Given the description of an element on the screen output the (x, y) to click on. 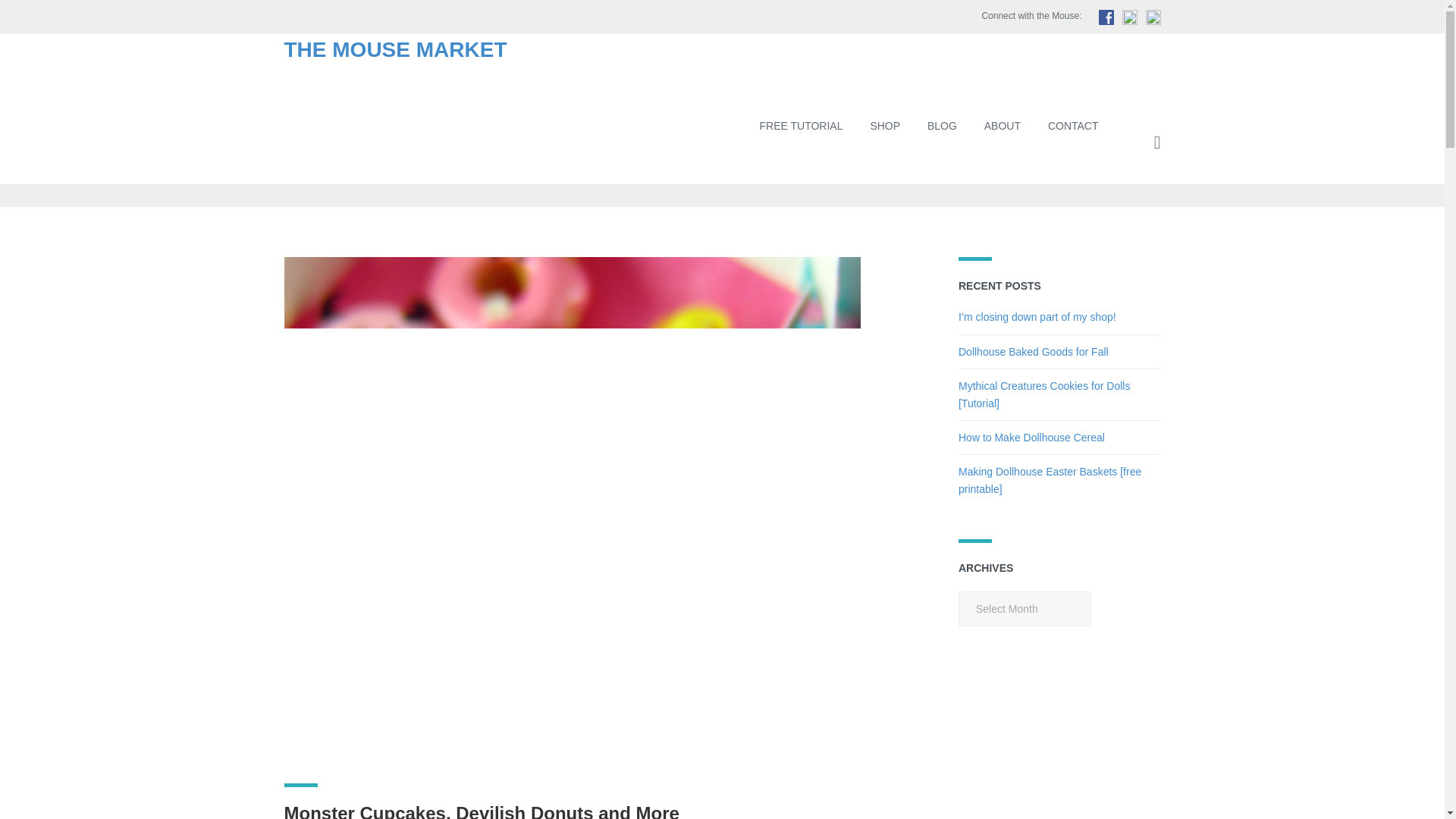
FREE TUTORIAL (802, 125)
How to Make Dollhouse Cereal (1031, 437)
Search (1096, 214)
Dollhouse Baked Goods for Fall (1033, 351)
The Mouse Market (394, 49)
CONTACT (1072, 125)
THE MOUSE MARKET (394, 49)
